Given the description of an element on the screen output the (x, y) to click on. 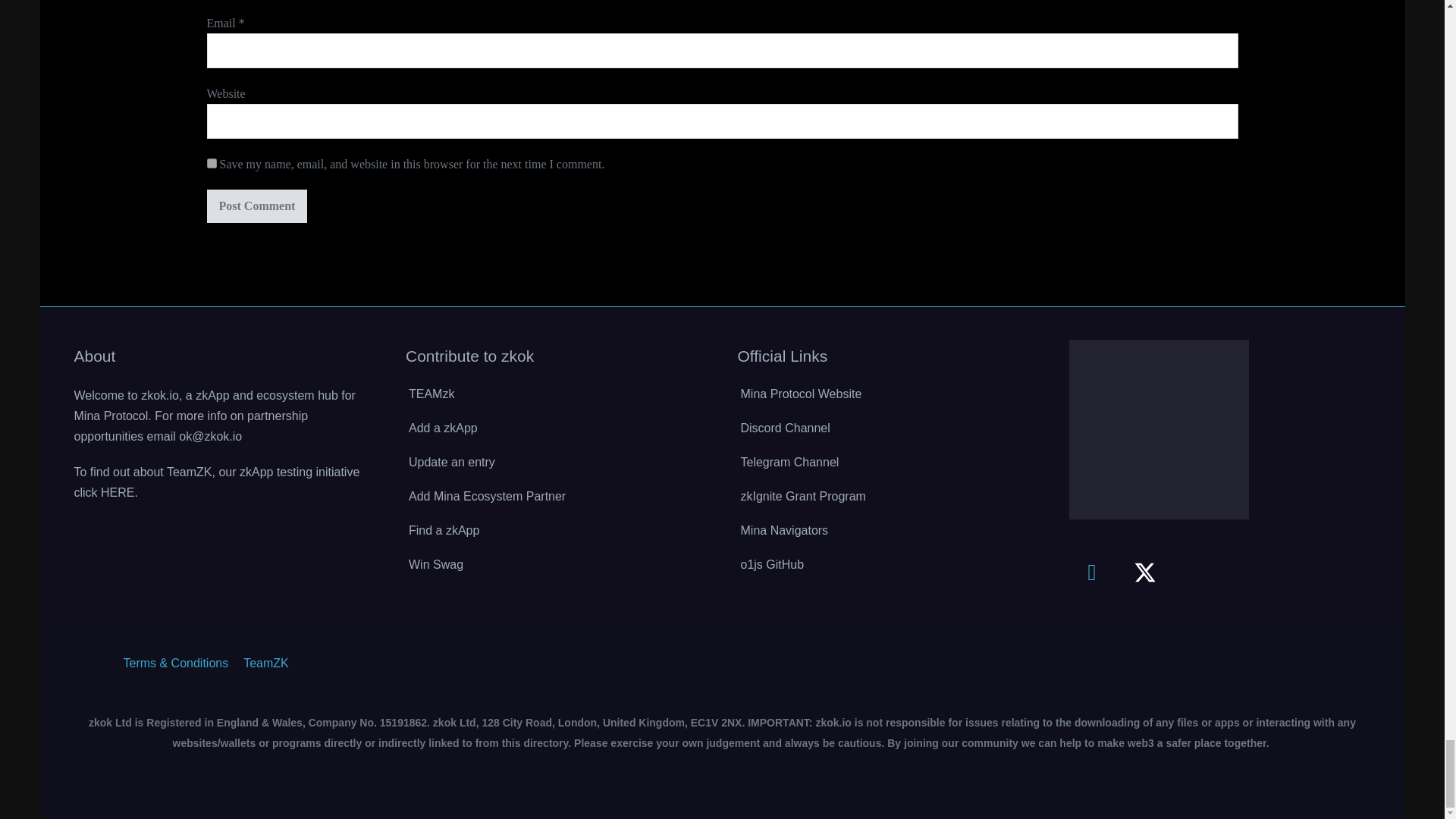
Post Comment (256, 205)
yes (210, 163)
Email (1091, 572)
zkok.it - the home of zkapps (1158, 429)
